Given the description of an element on the screen output the (x, y) to click on. 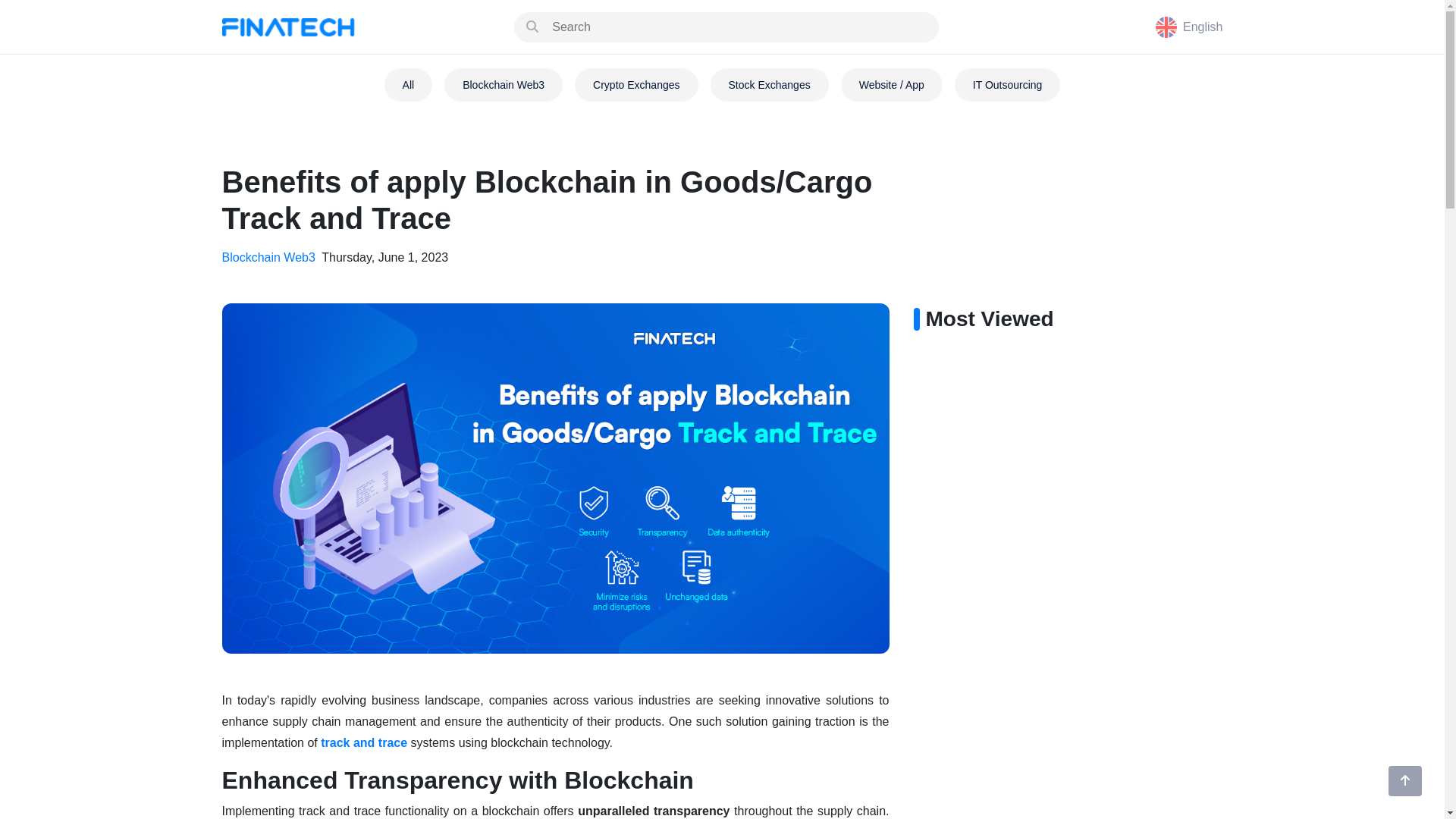
English (1189, 26)
Stock Exchanges (769, 84)
Blockchain Web3 (503, 84)
All (408, 84)
track and trace (363, 742)
Crypto Exchanges (636, 84)
Blockchain Web3 (269, 256)
IT Outsourcing (1008, 84)
